Given the description of an element on the screen output the (x, y) to click on. 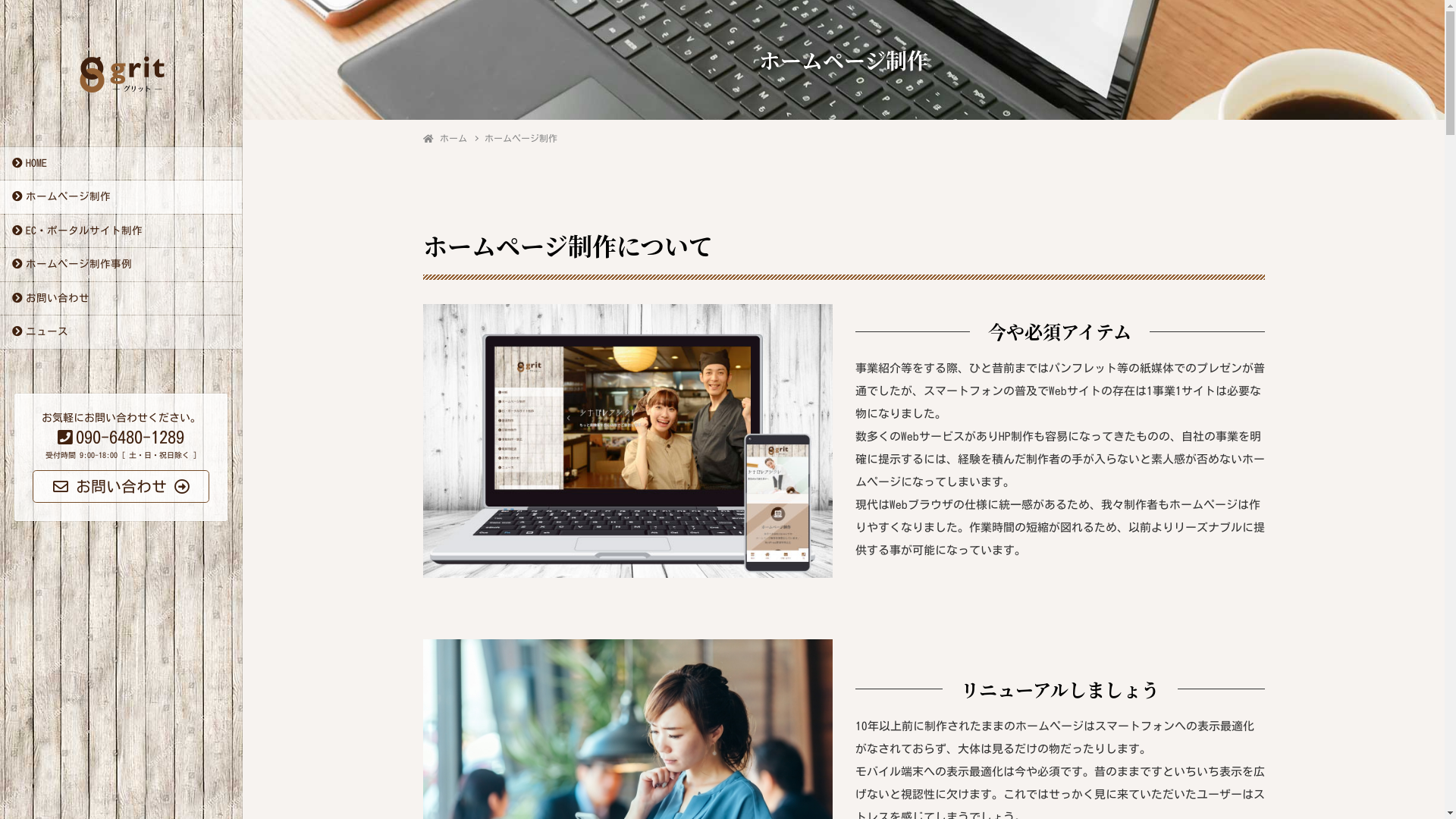
HOME Element type: text (120, 163)
